Given the description of an element on the screen output the (x, y) to click on. 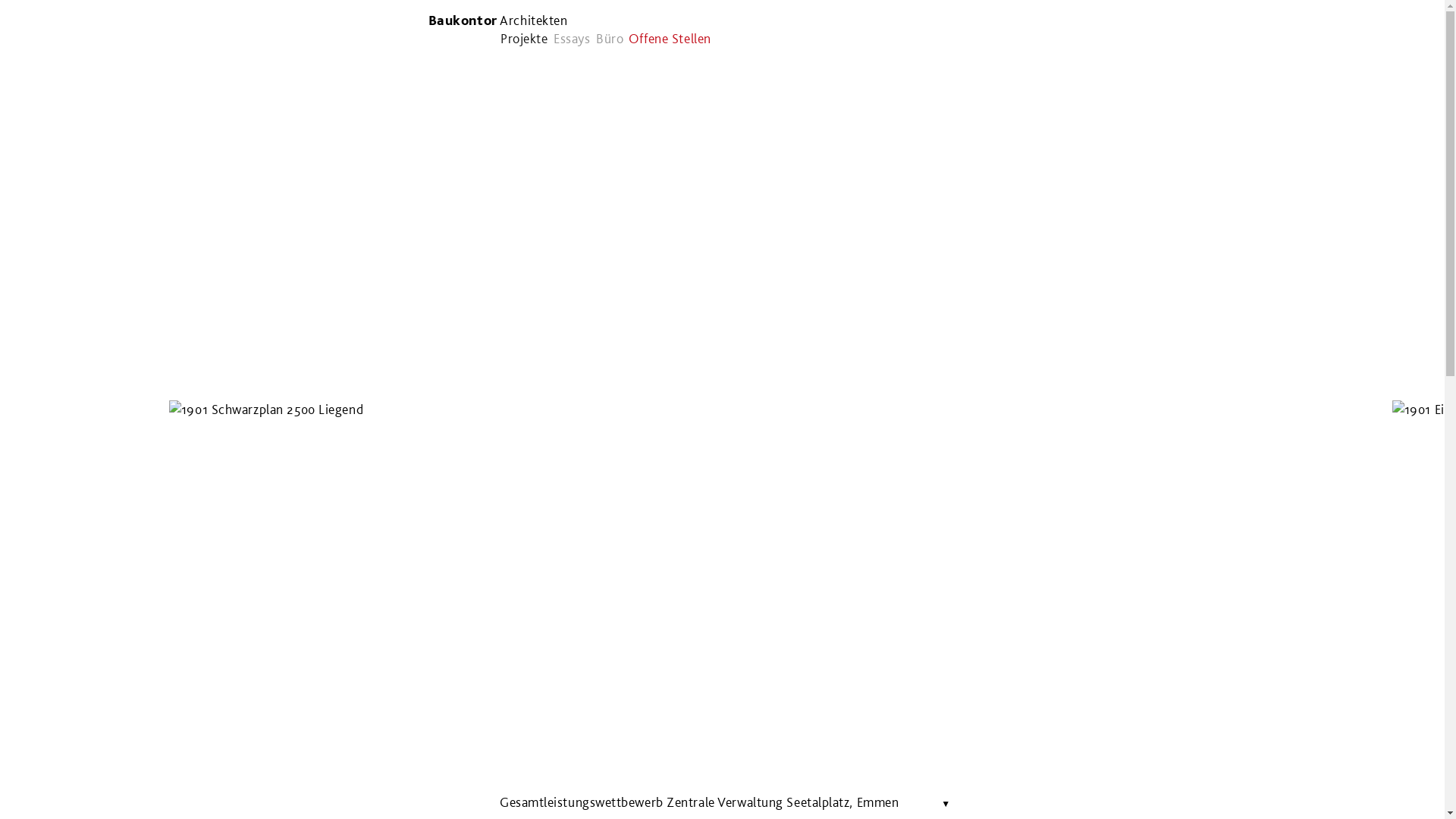
Baukontor Architekten Element type: text (497, 20)
Essays Element type: text (571, 38)
Projekte Element type: text (523, 38)
Offene Stellen Element type: text (669, 38)
